Given the description of an element on the screen output the (x, y) to click on. 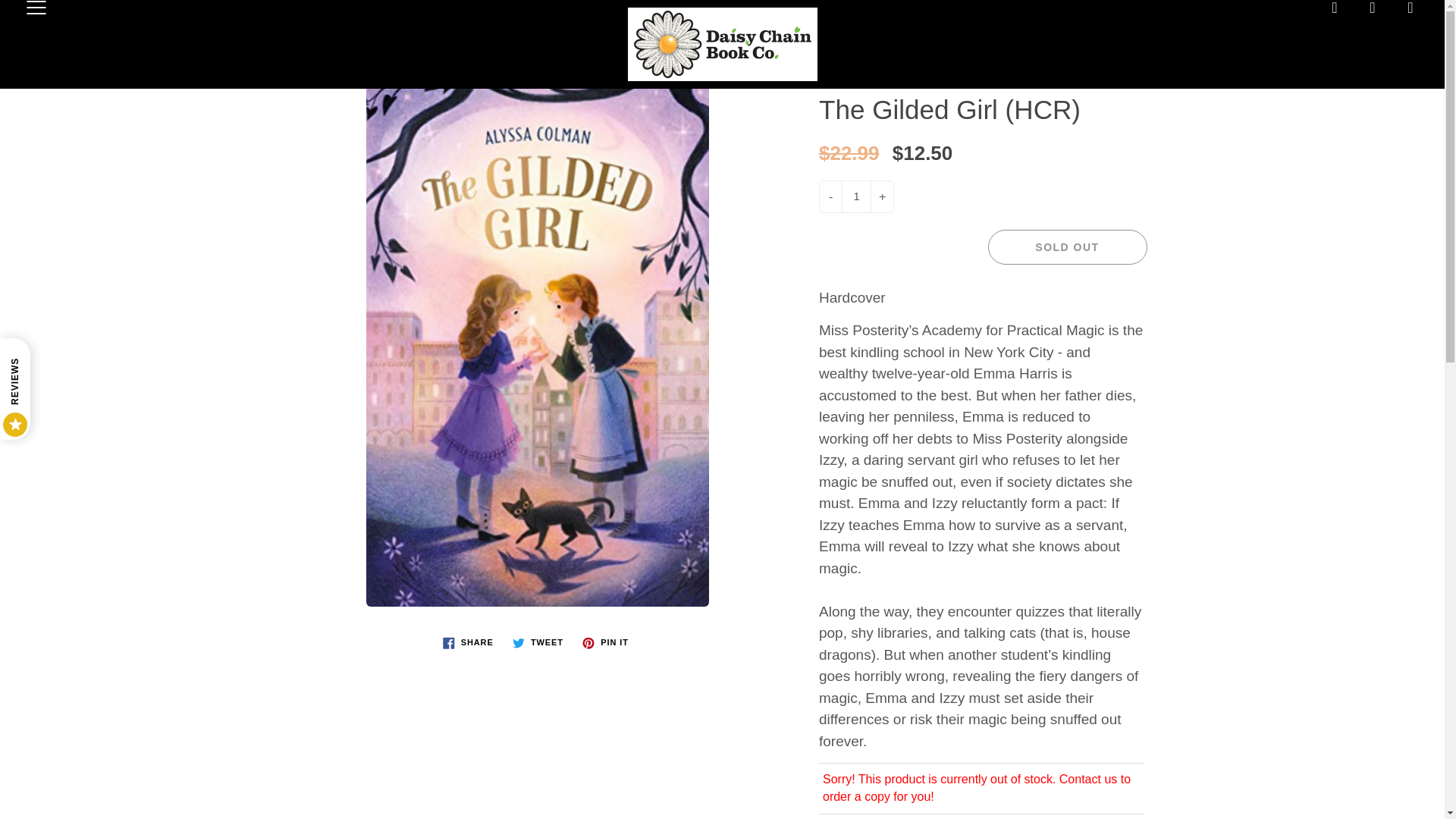
Press space bar to toggle menu (36, 9)
1 (855, 196)
Share on Facebook (467, 642)
Tweet on Twitter (537, 642)
Home (661, 44)
Pin on Pinterest (604, 642)
